Given the description of an element on the screen output the (x, y) to click on. 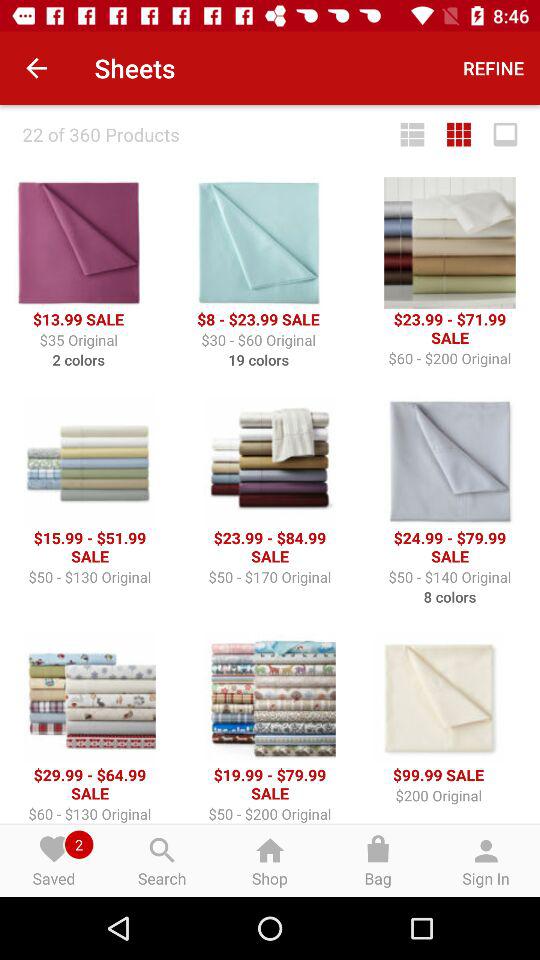
jump until the refine (493, 67)
